Given the description of an element on the screen output the (x, y) to click on. 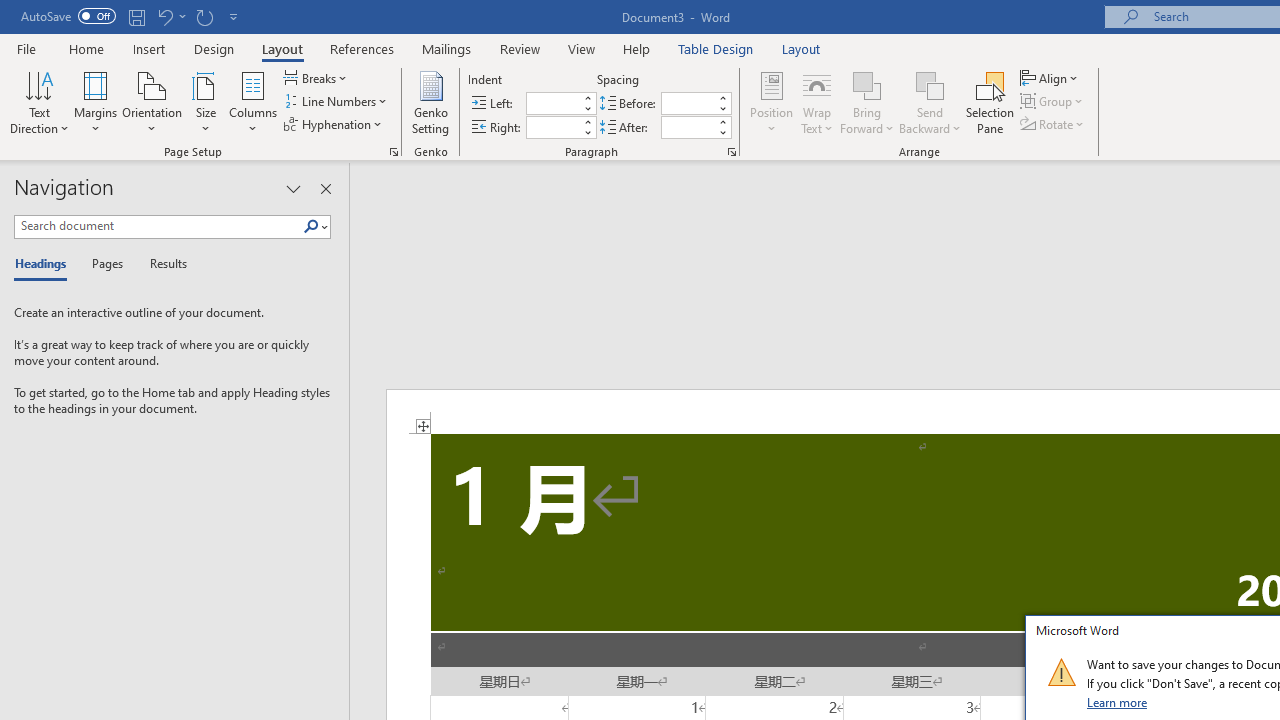
Bring Forward (867, 84)
More (722, 121)
Columns (253, 102)
Breaks (317, 78)
Orientation (152, 102)
Spacing After (687, 127)
Learn more (1118, 702)
